Given the description of an element on the screen output the (x, y) to click on. 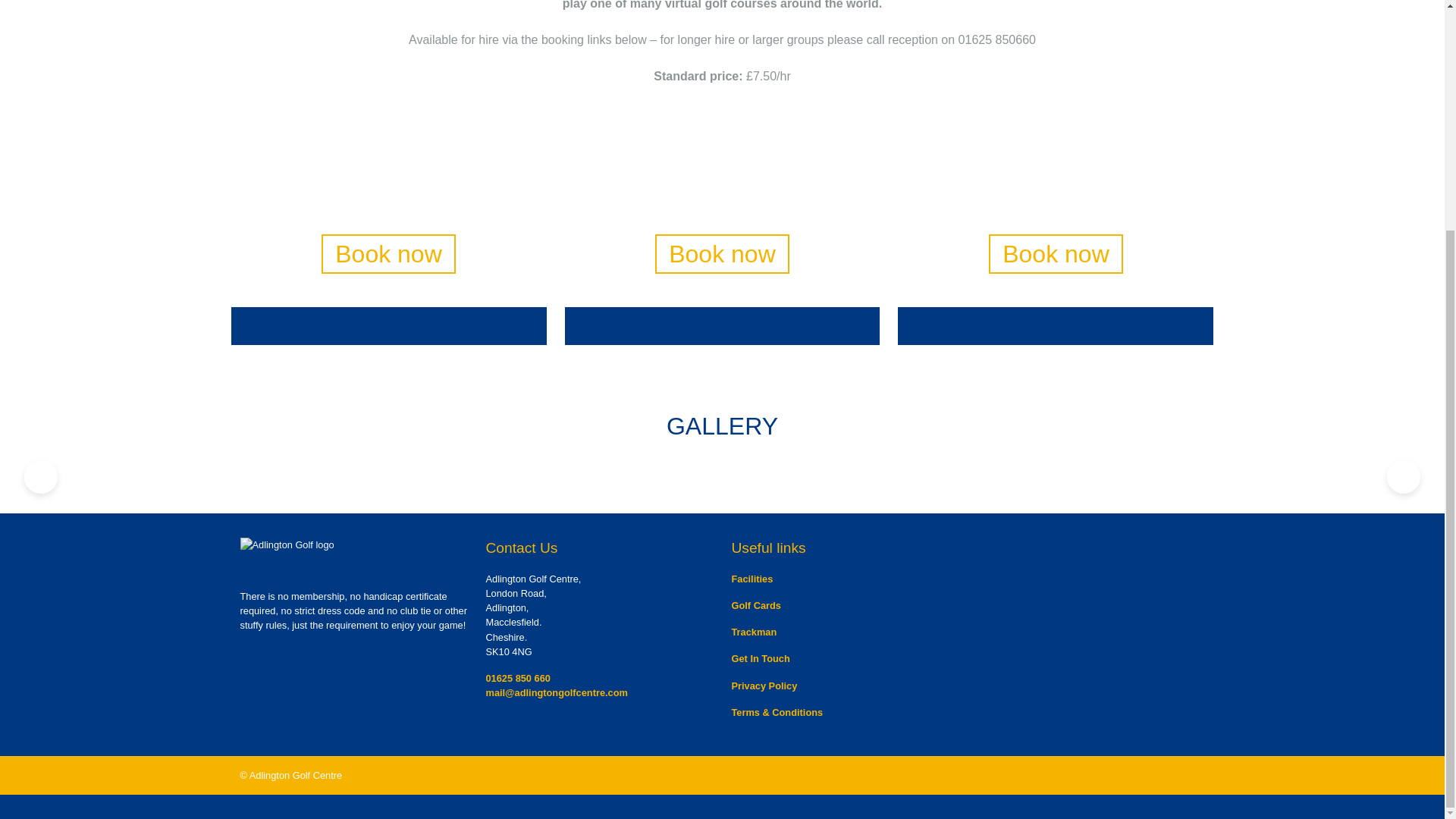
Privacy Policy (763, 685)
Book now (722, 253)
Get In Touch (759, 658)
Book now (1055, 253)
01625 850 660 (517, 677)
Facilities (751, 578)
Trackman (753, 632)
Golf Cards (755, 604)
Book now (388, 253)
